Given the description of an element on the screen output the (x, y) to click on. 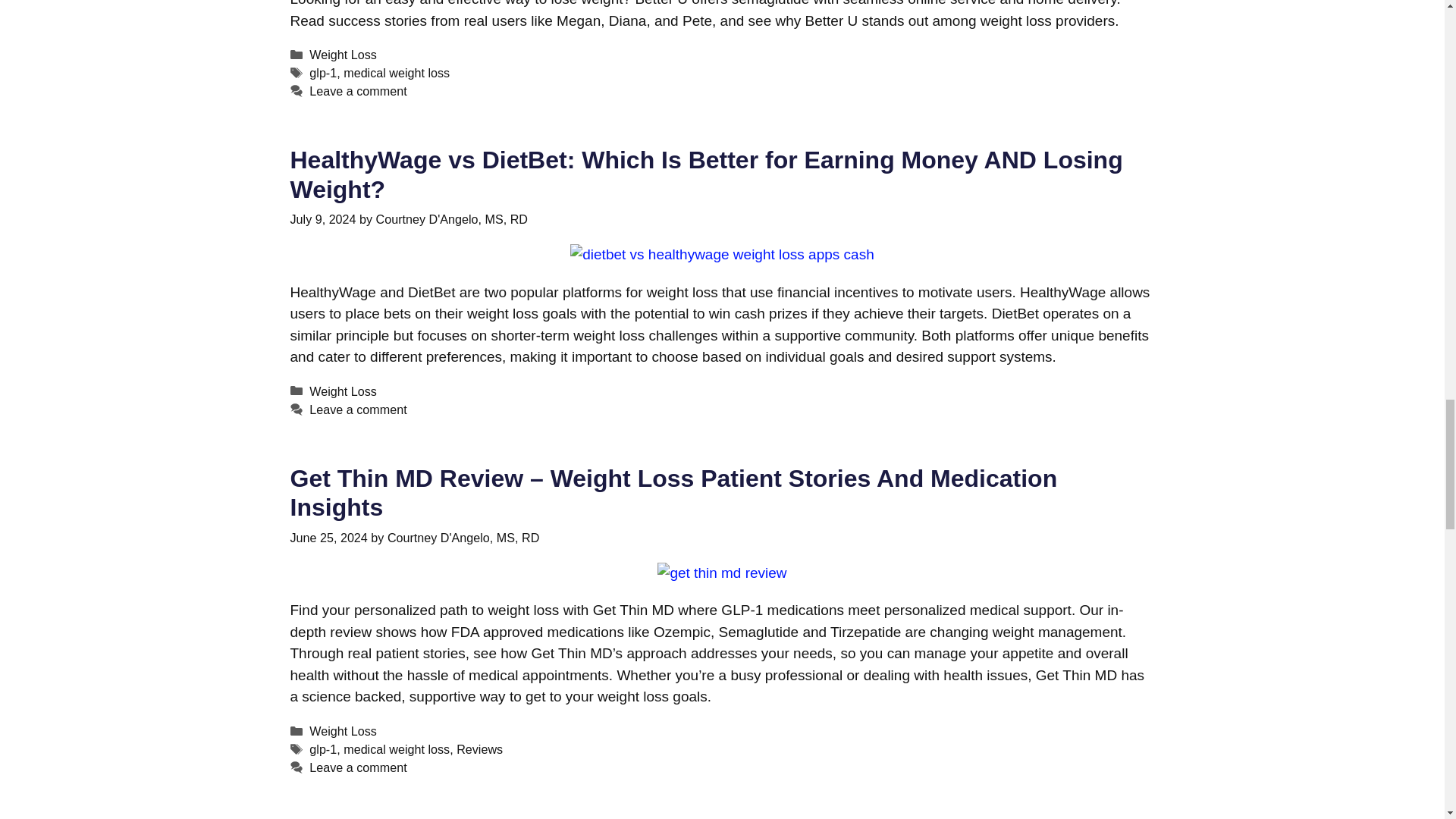
medical weight loss (396, 72)
Leave a comment (357, 90)
View all posts by Courtney D'Angelo, MS, RD (451, 219)
Weight Loss (342, 54)
View all posts by Courtney D'Angelo, MS, RD (462, 537)
glp-1 (322, 72)
